Given the description of an element on the screen output the (x, y) to click on. 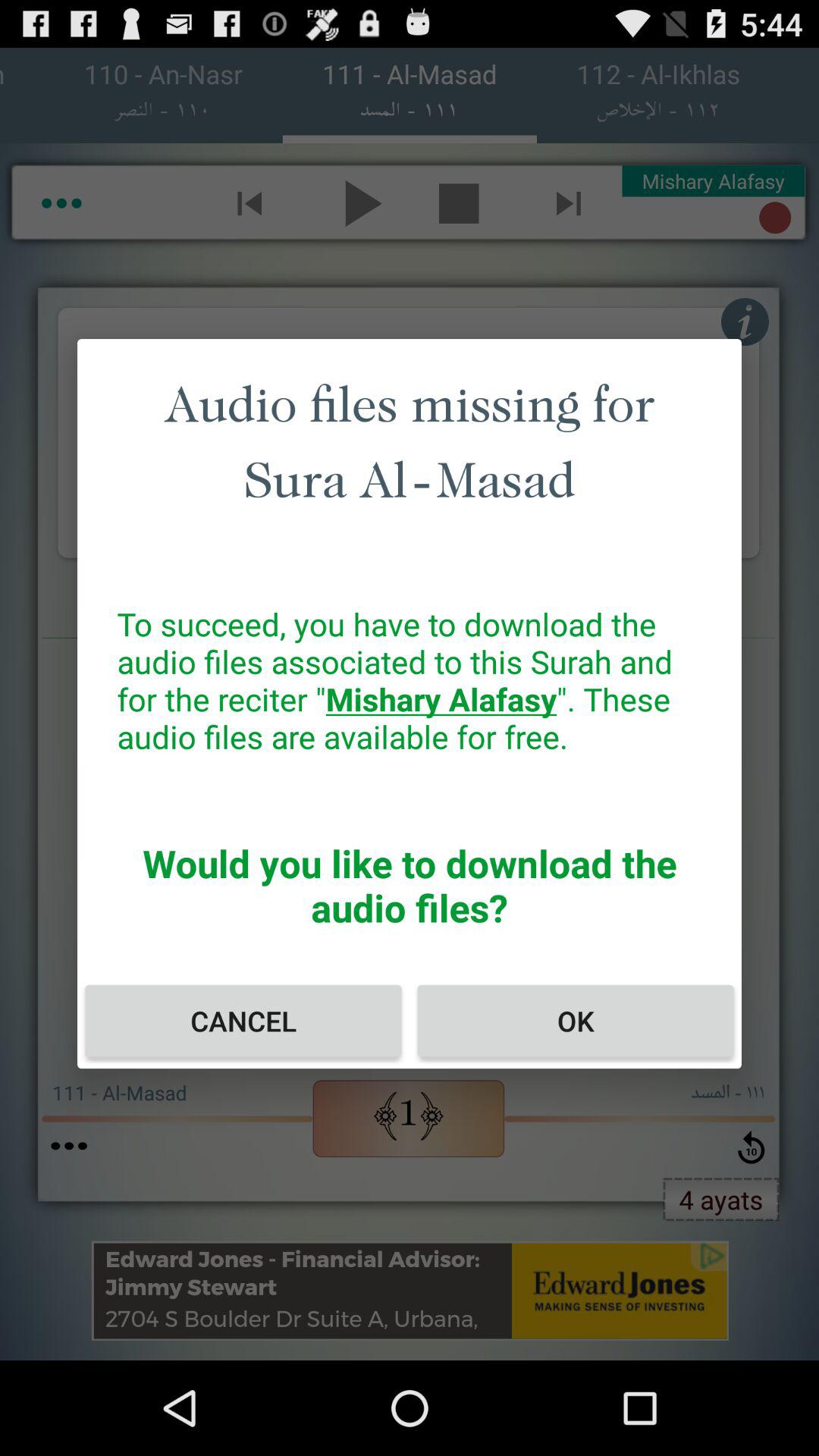
launch the item next to cancel icon (575, 1020)
